Given the description of an element on the screen output the (x, y) to click on. 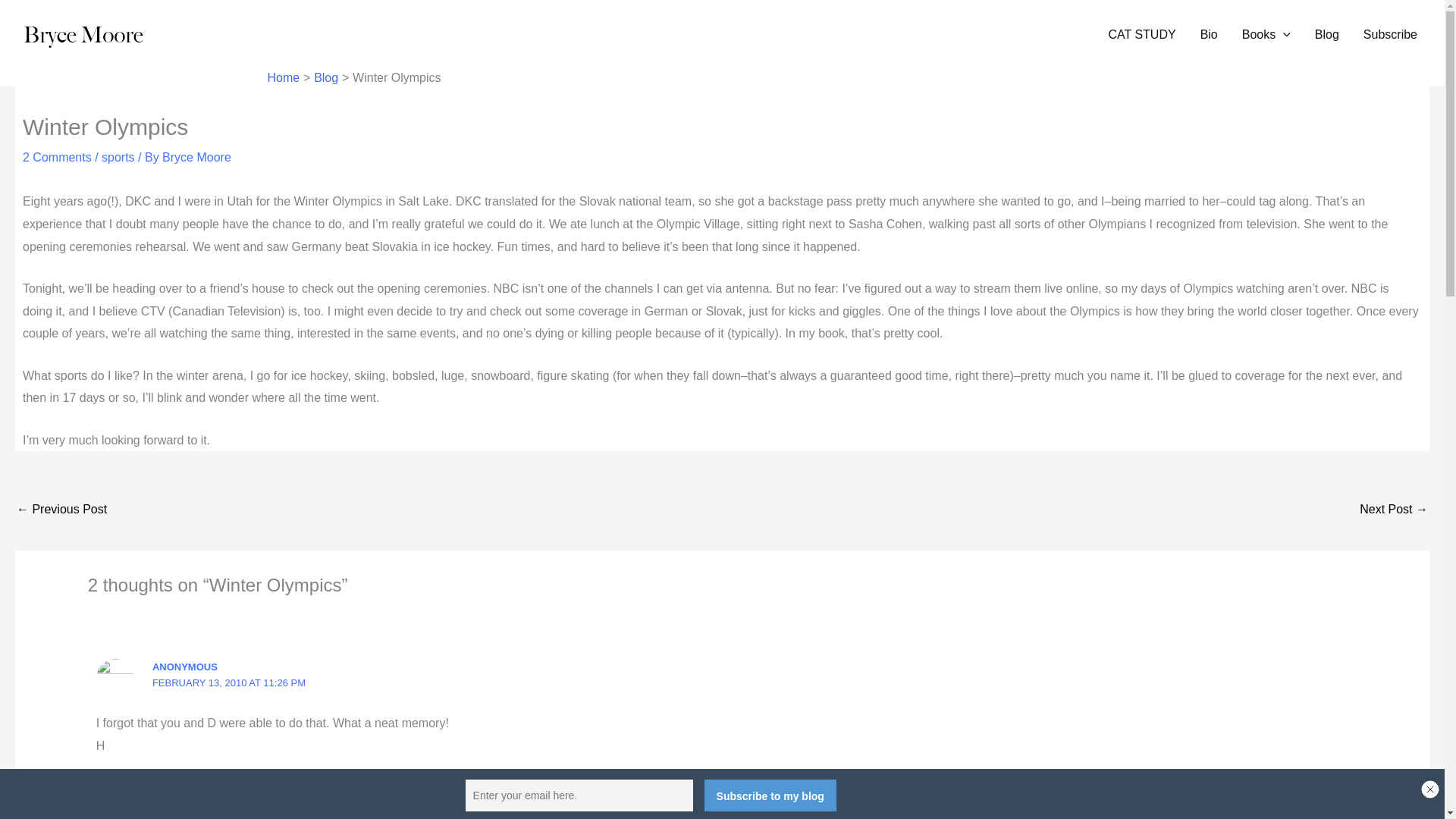
Bryce Moore (196, 156)
FEBRUARY 13, 2010 AT 11:26 PM (228, 682)
View all posts by Bryce Moore (196, 156)
Reply (1332, 789)
Blog (325, 77)
Home (282, 77)
Subscribe to my blog (769, 795)
sports (118, 156)
Blog (1327, 34)
Subscribe (1390, 34)
